Given the description of an element on the screen output the (x, y) to click on. 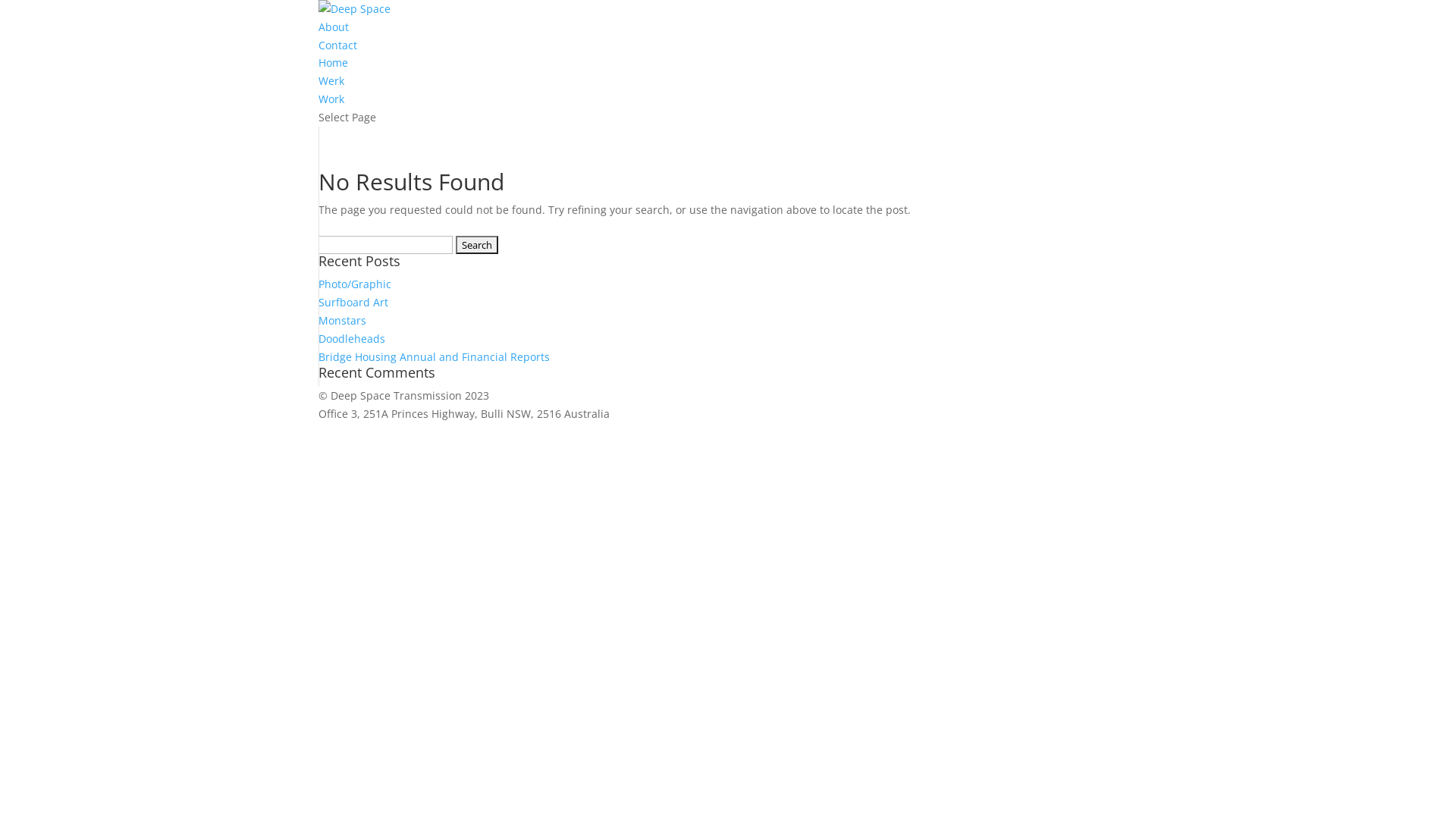
Contact Element type: text (337, 44)
Bridge Housing Annual and Financial Reports Element type: text (433, 356)
Monstars Element type: text (342, 320)
Werk Element type: text (331, 80)
Surfboard Art Element type: text (353, 301)
Doodleheads Element type: text (351, 338)
Home Element type: text (333, 62)
About Element type: text (333, 26)
Work Element type: text (331, 98)
Search Element type: text (476, 244)
Photo/Graphic Element type: text (354, 283)
